Given the description of an element on the screen output the (x, y) to click on. 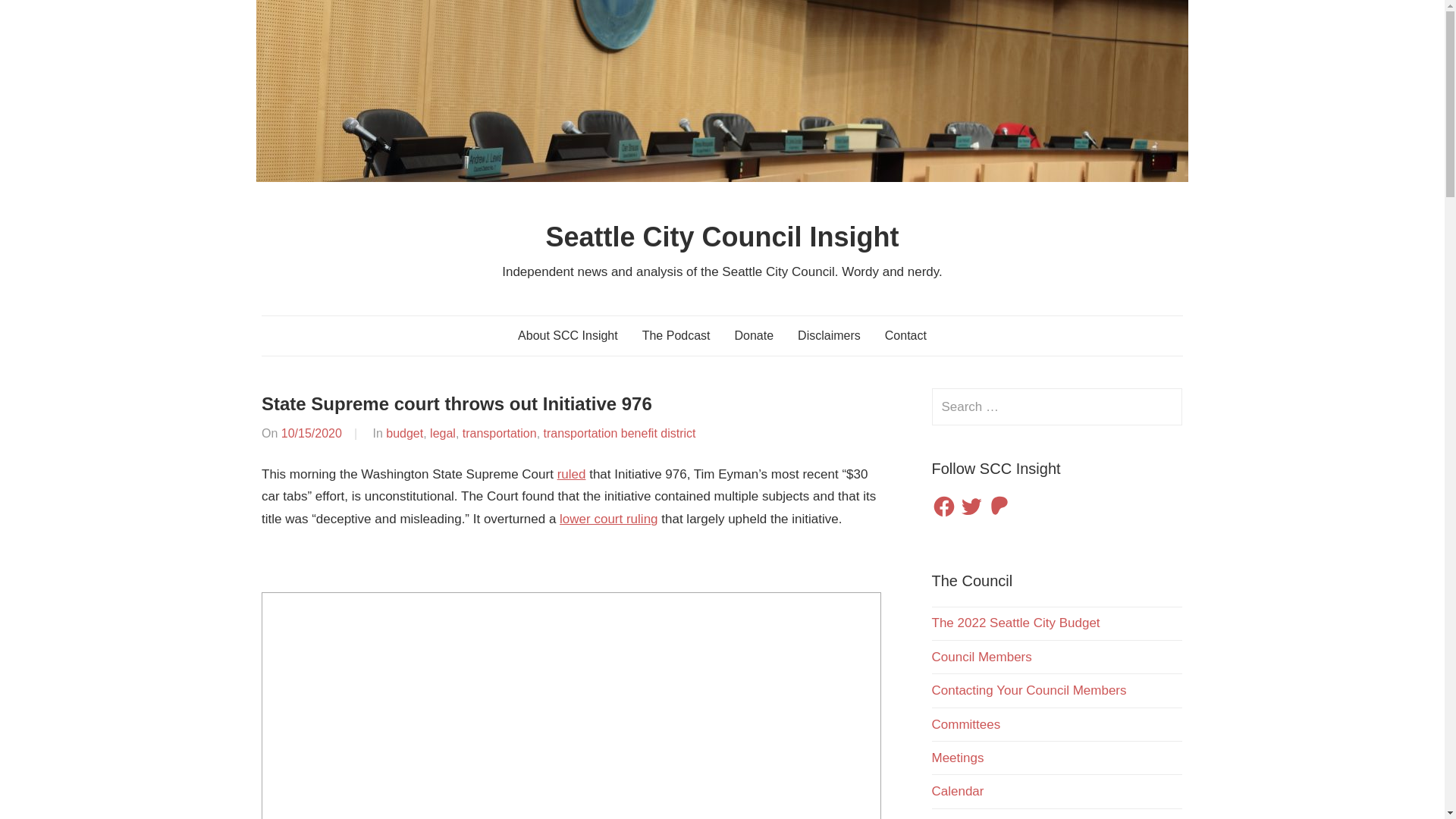
Twitter (971, 506)
Search for: (1056, 406)
budget (404, 432)
transportation (500, 432)
Patreon (999, 506)
lower court ruling (608, 518)
Donate (754, 335)
Meetings (957, 757)
Committees (965, 724)
Contact (905, 335)
Contacting Your Council Members (1028, 690)
Council Members (980, 657)
The 2022 Seattle City Budget (1015, 622)
About SCC Insight (567, 335)
Calendar (957, 790)
